Given the description of an element on the screen output the (x, y) to click on. 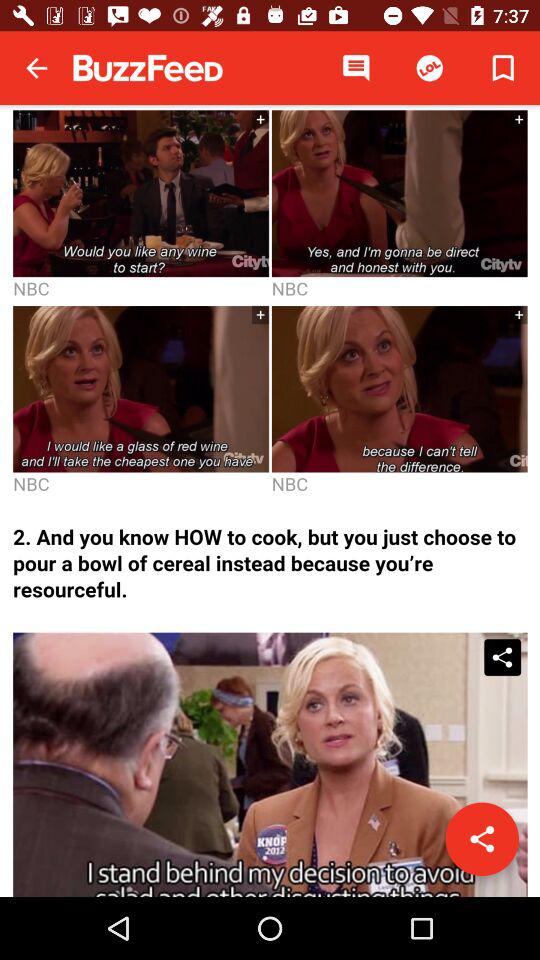
share the video/image (482, 839)
